Given the description of an element on the screen output the (x, y) to click on. 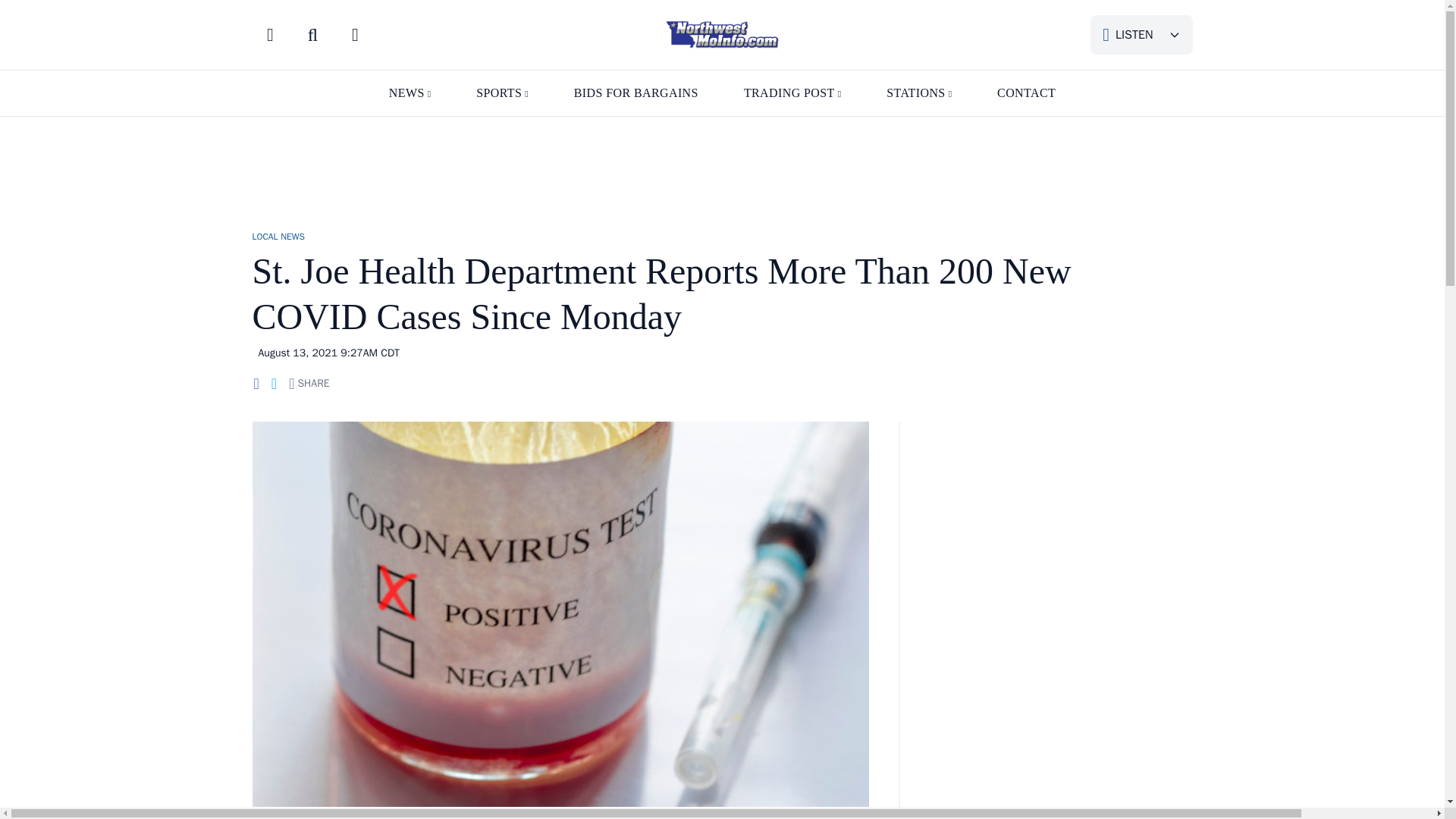
3rd party ad content (1060, 531)
Northwest MO Info (721, 34)
LISTEN (1141, 34)
3rd party ad content (721, 165)
